Given the description of an element on the screen output the (x, y) to click on. 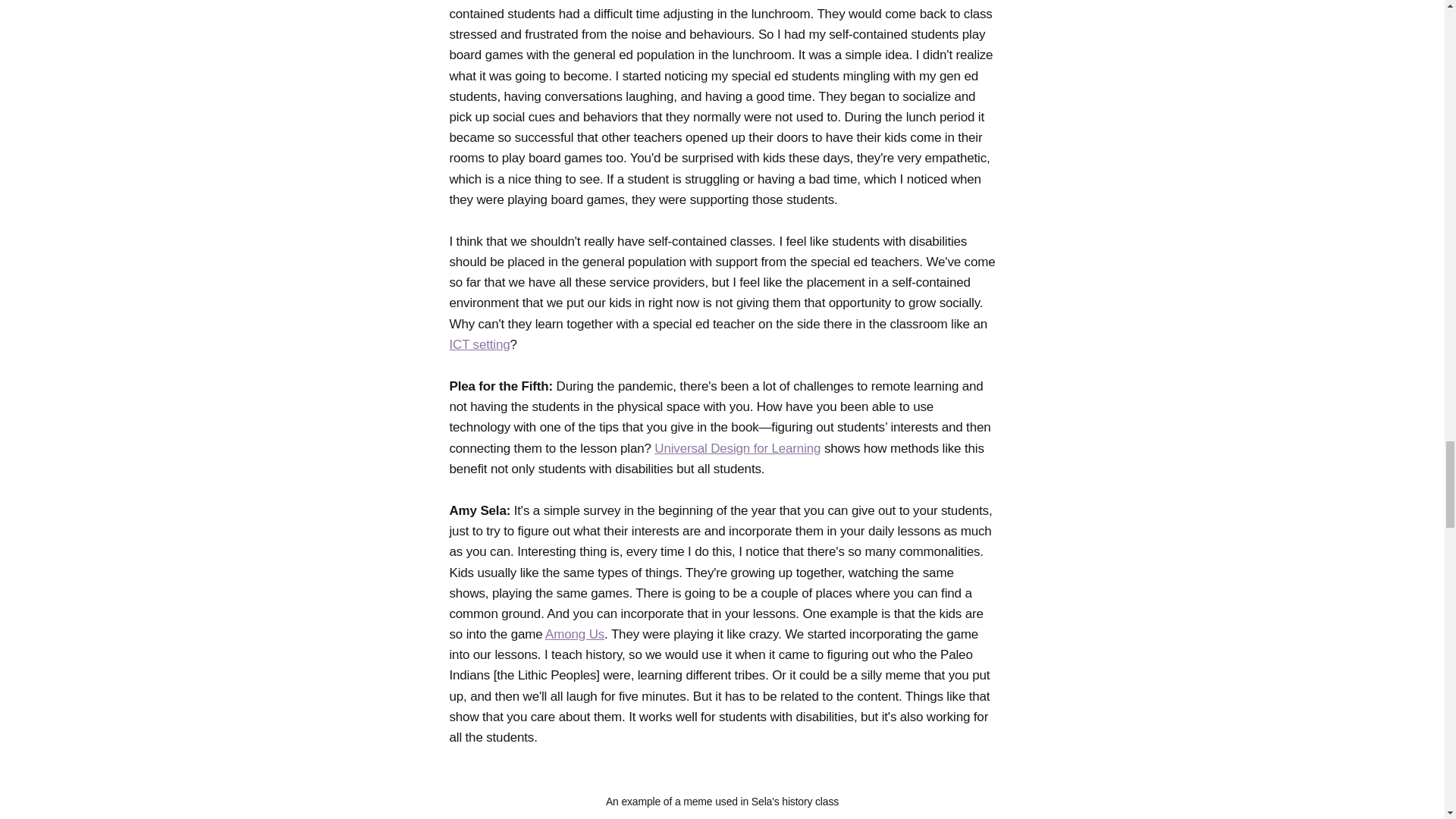
Universal Design for Learning (737, 448)
Among Us (574, 634)
ICT setting (478, 344)
